Given the description of an element on the screen output the (x, y) to click on. 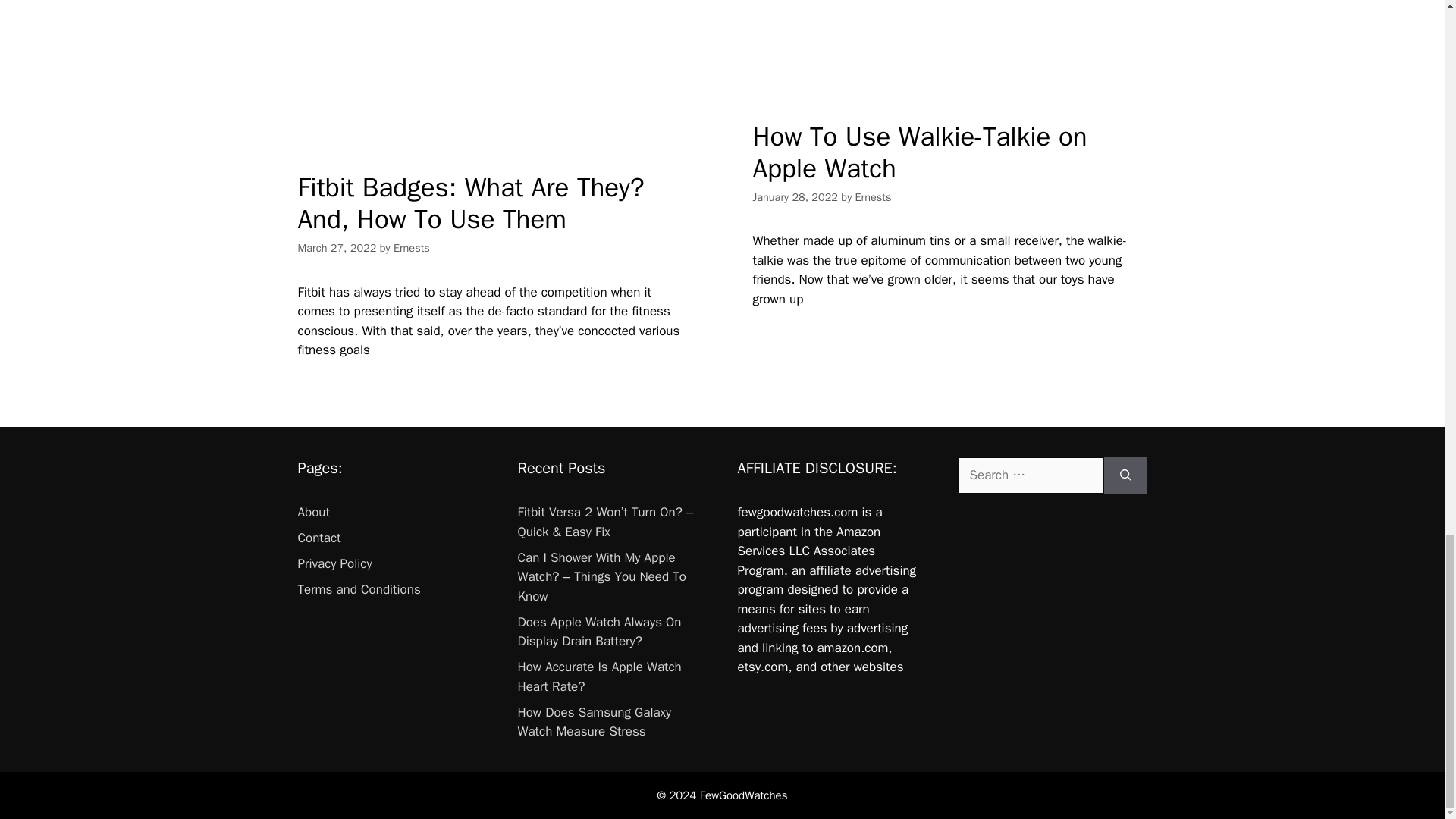
Ernests (411, 247)
Ernests (873, 196)
Contact (318, 537)
Search for: (1029, 475)
Fitbit Badges: What Are They? And, How To Use Them (470, 202)
About (313, 512)
View all posts by Ernests (411, 247)
View all posts by Ernests (873, 196)
How To Use Walkie-Talkie on Apple Watch (919, 152)
Privacy Policy (334, 563)
